Given the description of an element on the screen output the (x, y) to click on. 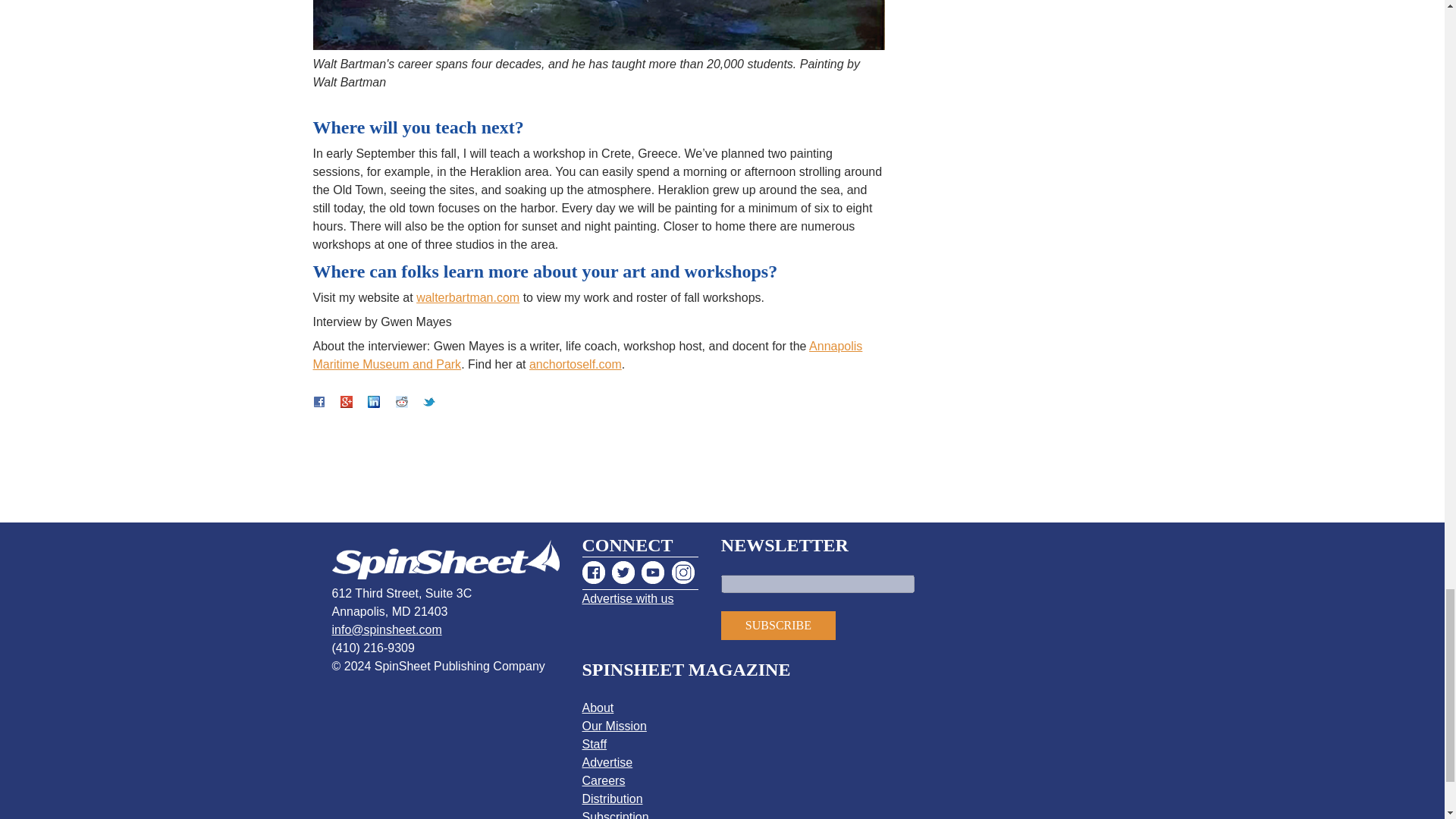
walterbartman.com (467, 297)
anchortoself.com (575, 364)
Subscribe (777, 624)
Annapolis Maritime Museum and Park (587, 355)
